Given the description of an element on the screen output the (x, y) to click on. 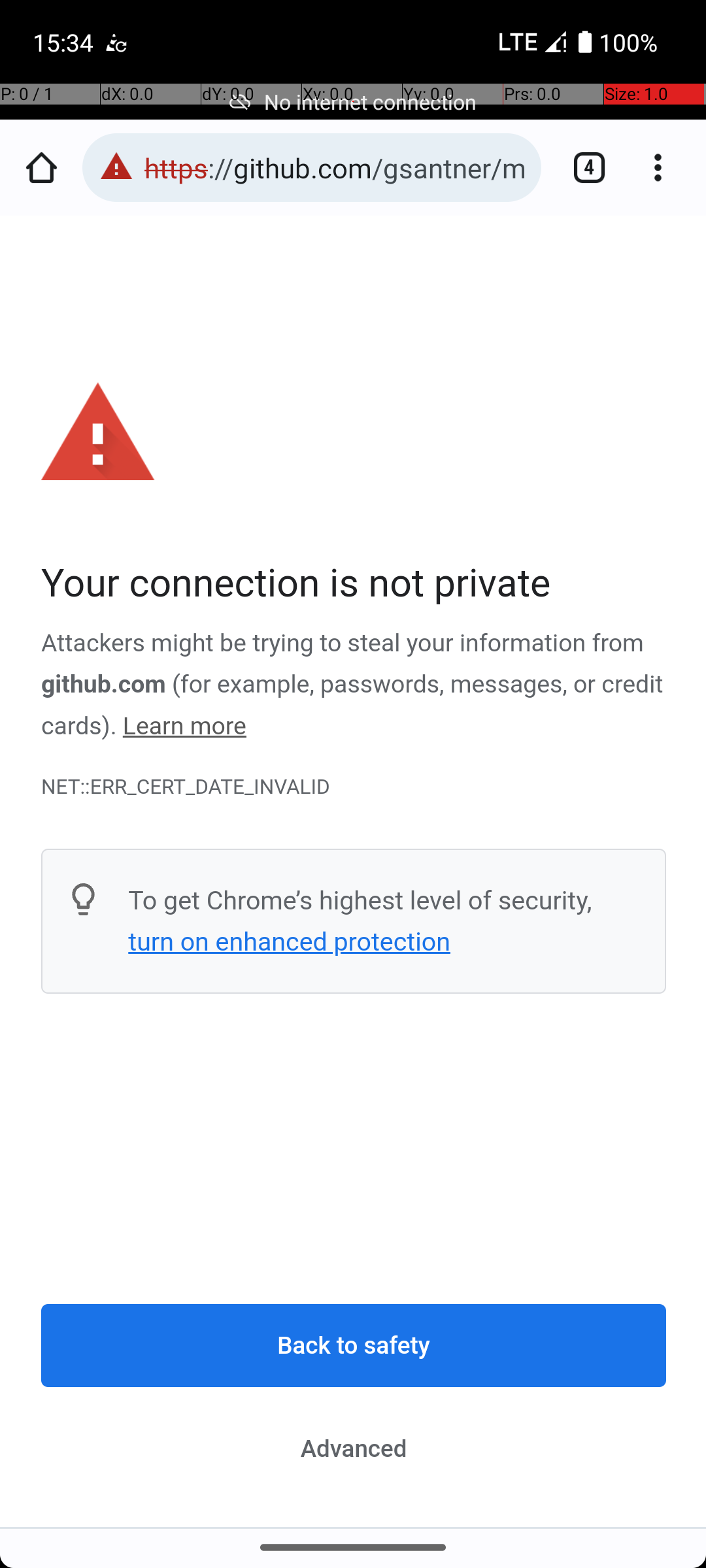
https://github.com/gsantner/markor/discussions Element type: android.widget.EditText (335, 167)
